Given the description of an element on the screen output the (x, y) to click on. 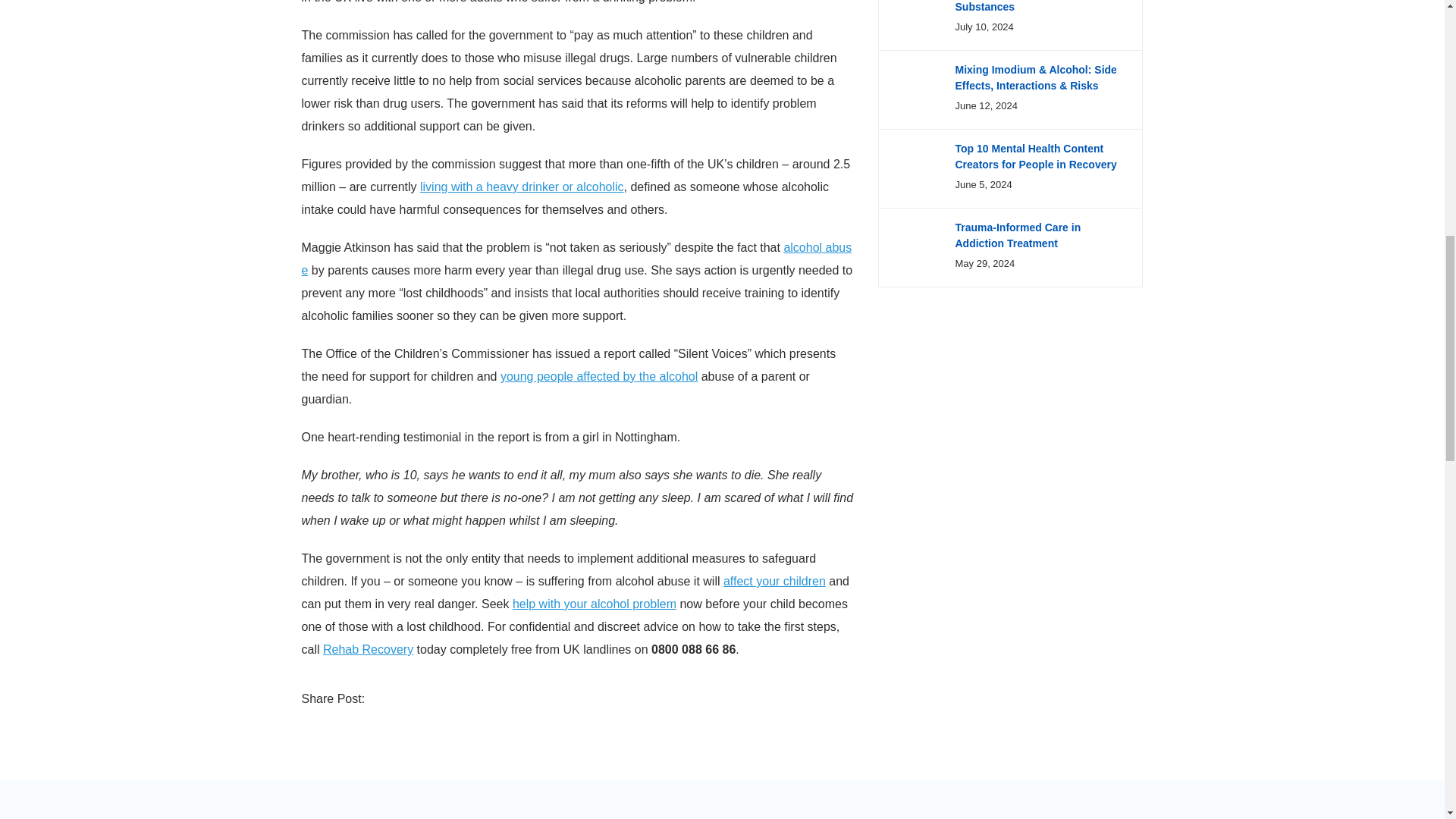
Trauma-Informed Care in Addiction Treatment (1018, 235)
Alcohol Help and Treatment (594, 603)
Top 10 Mental Health Content Creators for People in Recovery (1035, 156)
